Given the description of an element on the screen output the (x, y) to click on. 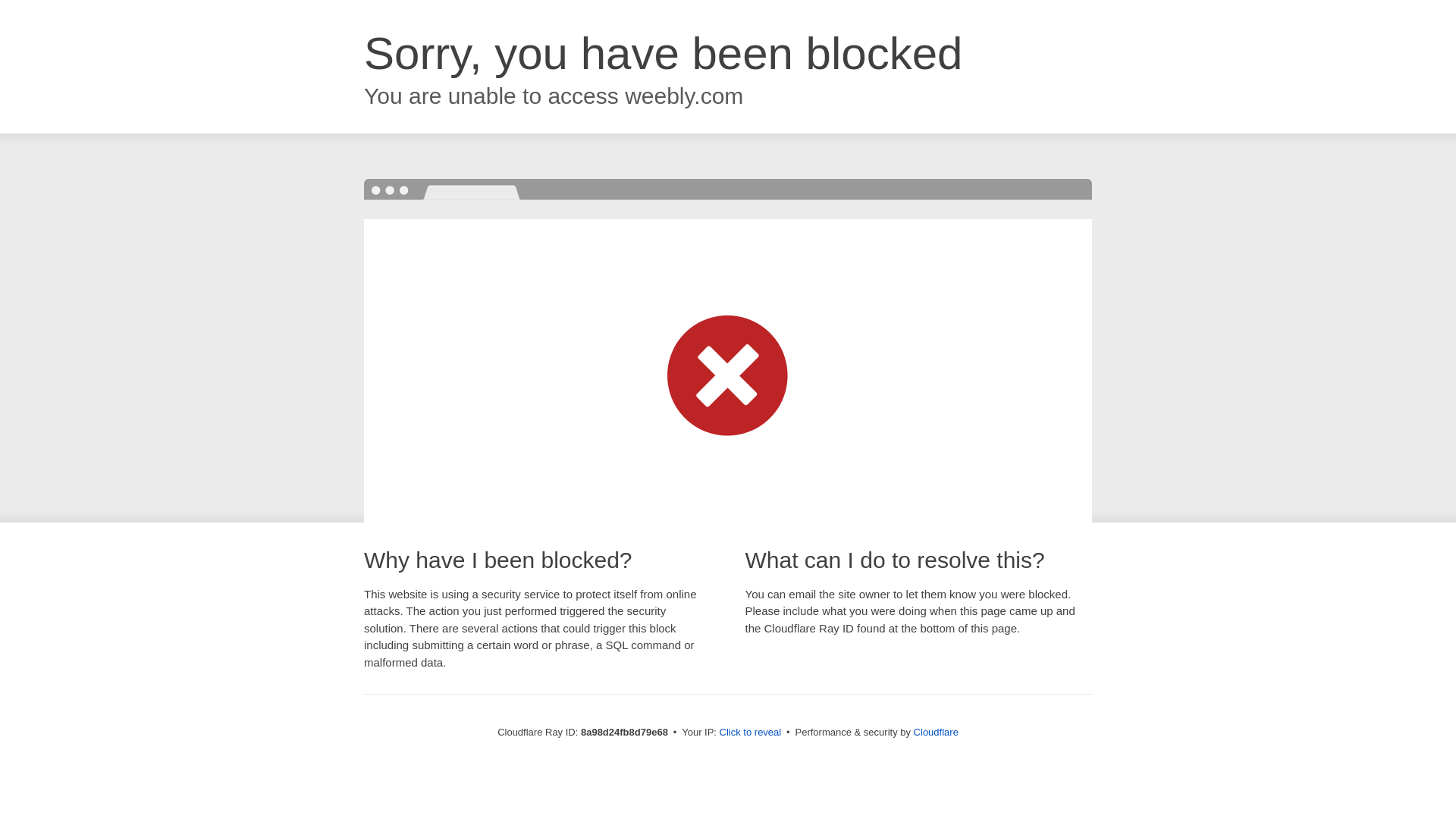
Click to reveal (750, 732)
Cloudflare (936, 731)
